Given the description of an element on the screen output the (x, y) to click on. 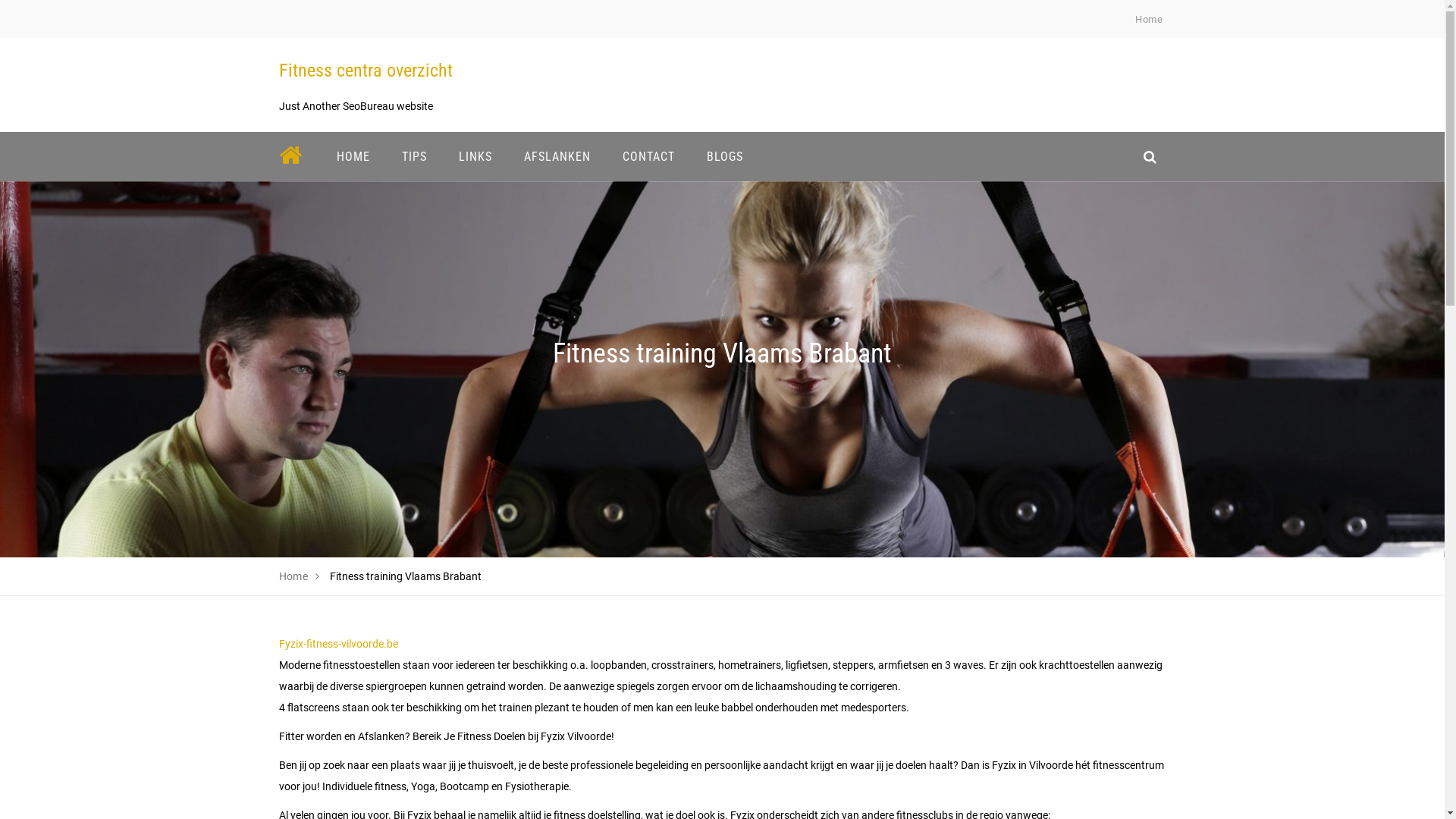
HOME Element type: text (352, 156)
search_icon Element type: hover (1148, 156)
LINKS Element type: text (475, 156)
AFSLANKEN Element type: text (557, 156)
Fitness centra overzicht Element type: text (365, 70)
Home Element type: text (293, 576)
TIPS Element type: text (413, 156)
BLOGS Element type: text (724, 156)
CONTACT Element type: text (648, 156)
Home Element type: text (1148, 19)
Fyzix-fitness-vilvoorde.be Element type: text (338, 643)
